Given the description of an element on the screen output the (x, y) to click on. 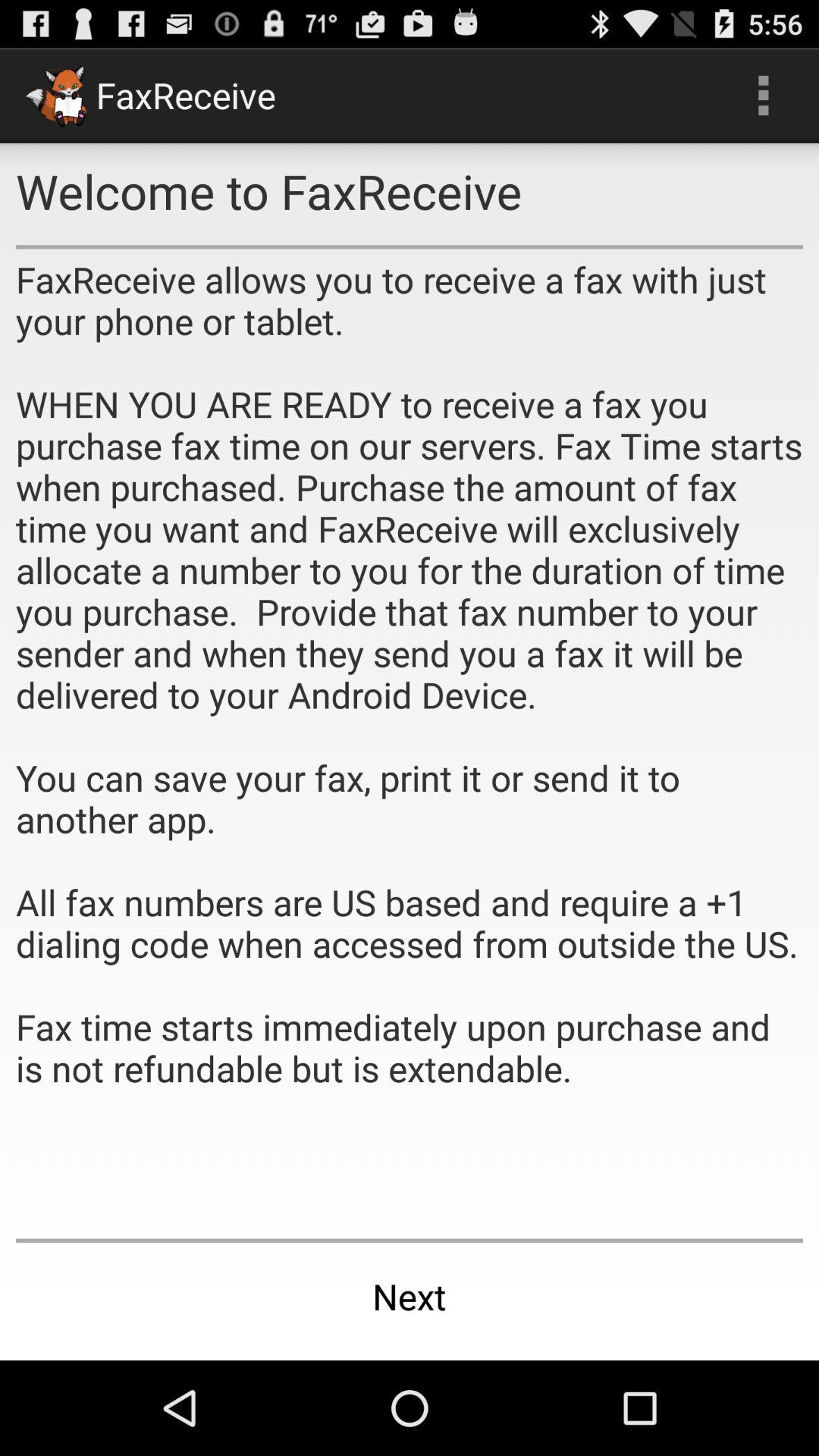
turn on the item next to the faxreceive (763, 95)
